Given the description of an element on the screen output the (x, y) to click on. 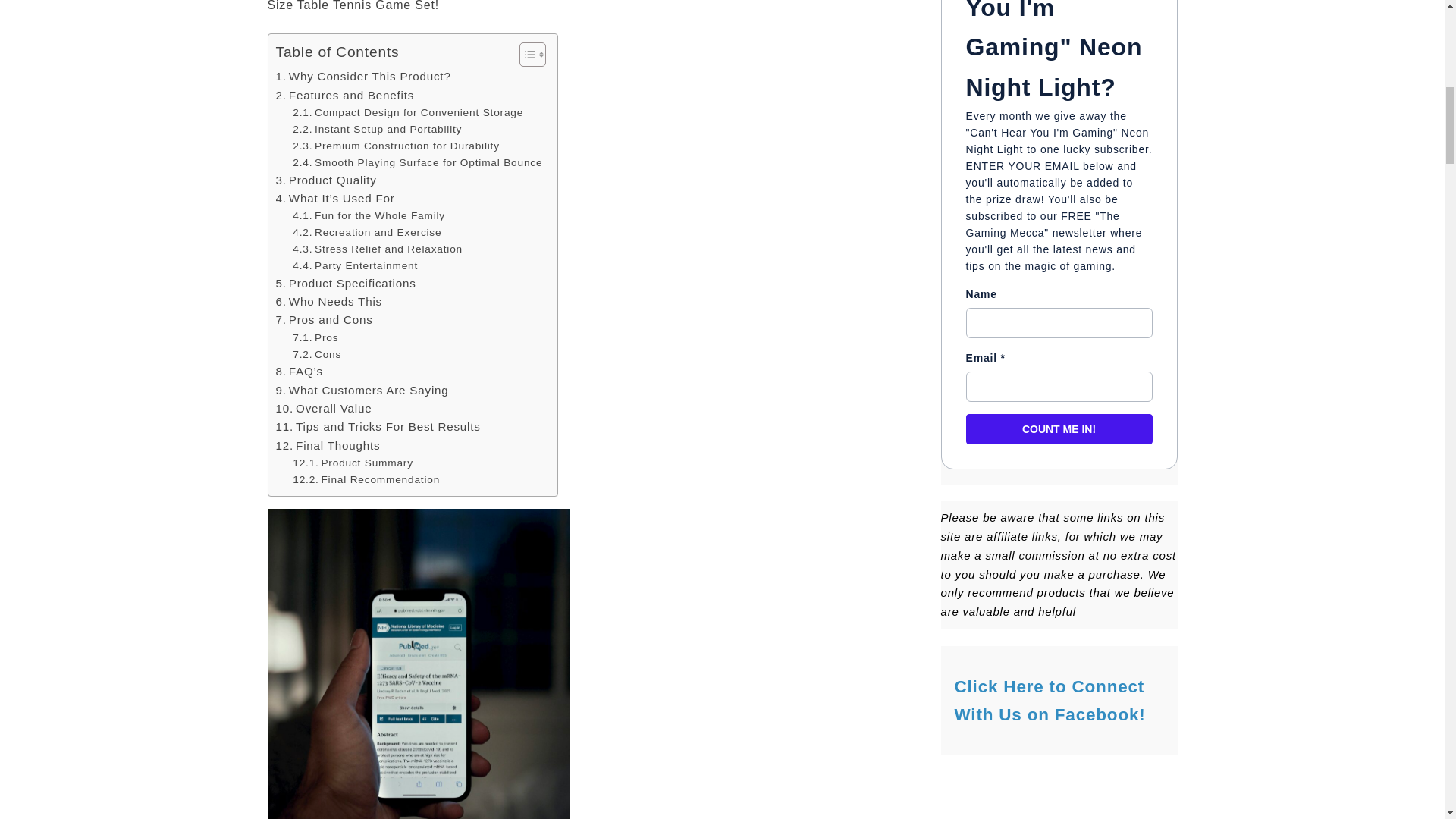
Recreation and Exercise (366, 232)
Product Specifications (346, 283)
Party Entertainment (354, 265)
Why Consider This Product? (363, 76)
Premium Construction for Durability (395, 146)
Stress Relief and Relaxation (377, 248)
Fun for the Whole Family (368, 216)
Who Needs This (329, 301)
Premium Construction for Durability (395, 146)
Features and Benefits (345, 95)
